Given the description of an element on the screen output the (x, y) to click on. 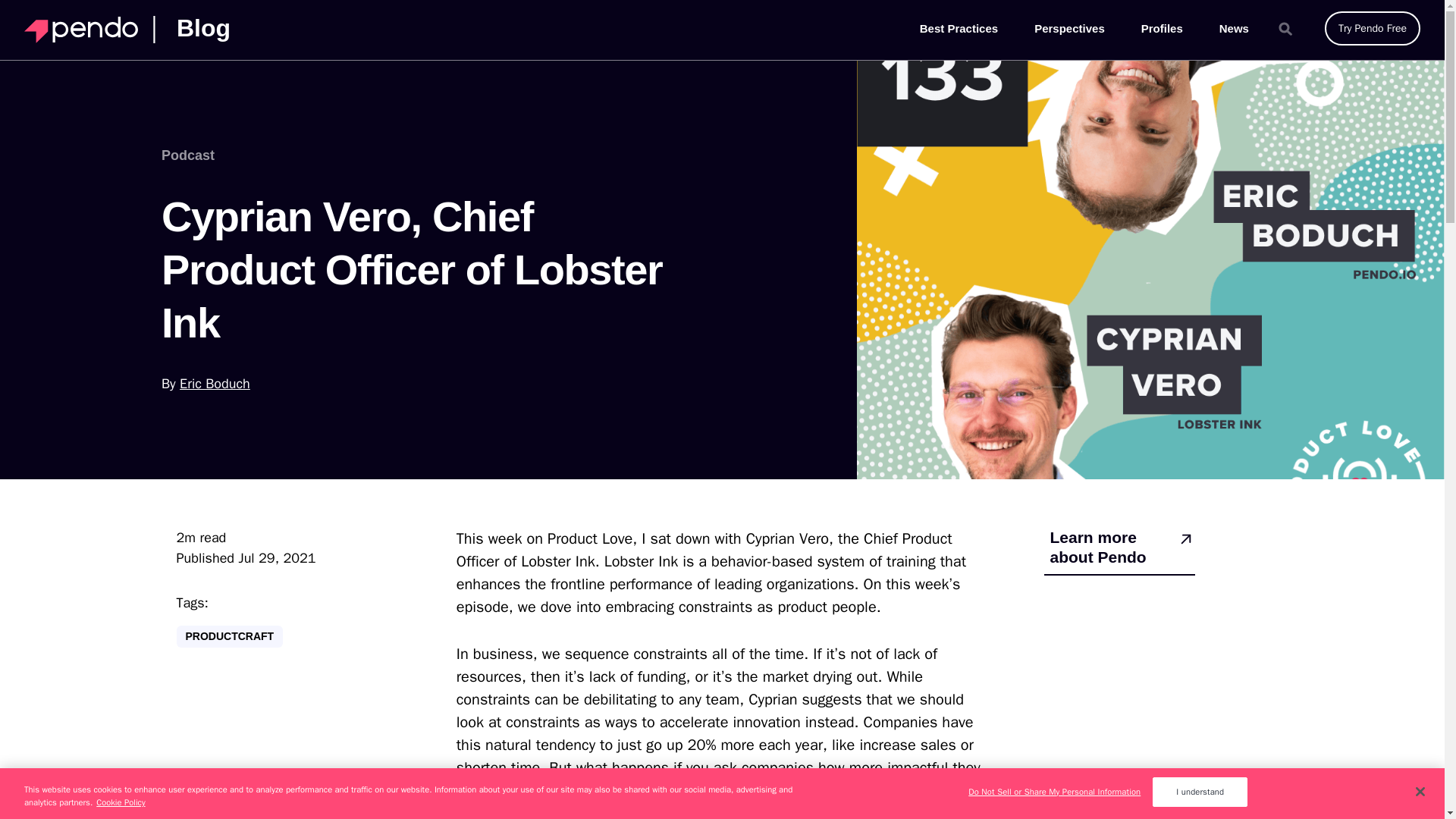
Try Pendo Free (1372, 28)
PRODUCTCRAFT (229, 636)
Perspectives (1069, 30)
Blog (200, 32)
Eric Boduch (214, 383)
Best Practices (958, 30)
News (1234, 30)
Learn more about Pendo (1119, 551)
Profiles (1161, 30)
